Given the description of an element on the screen output the (x, y) to click on. 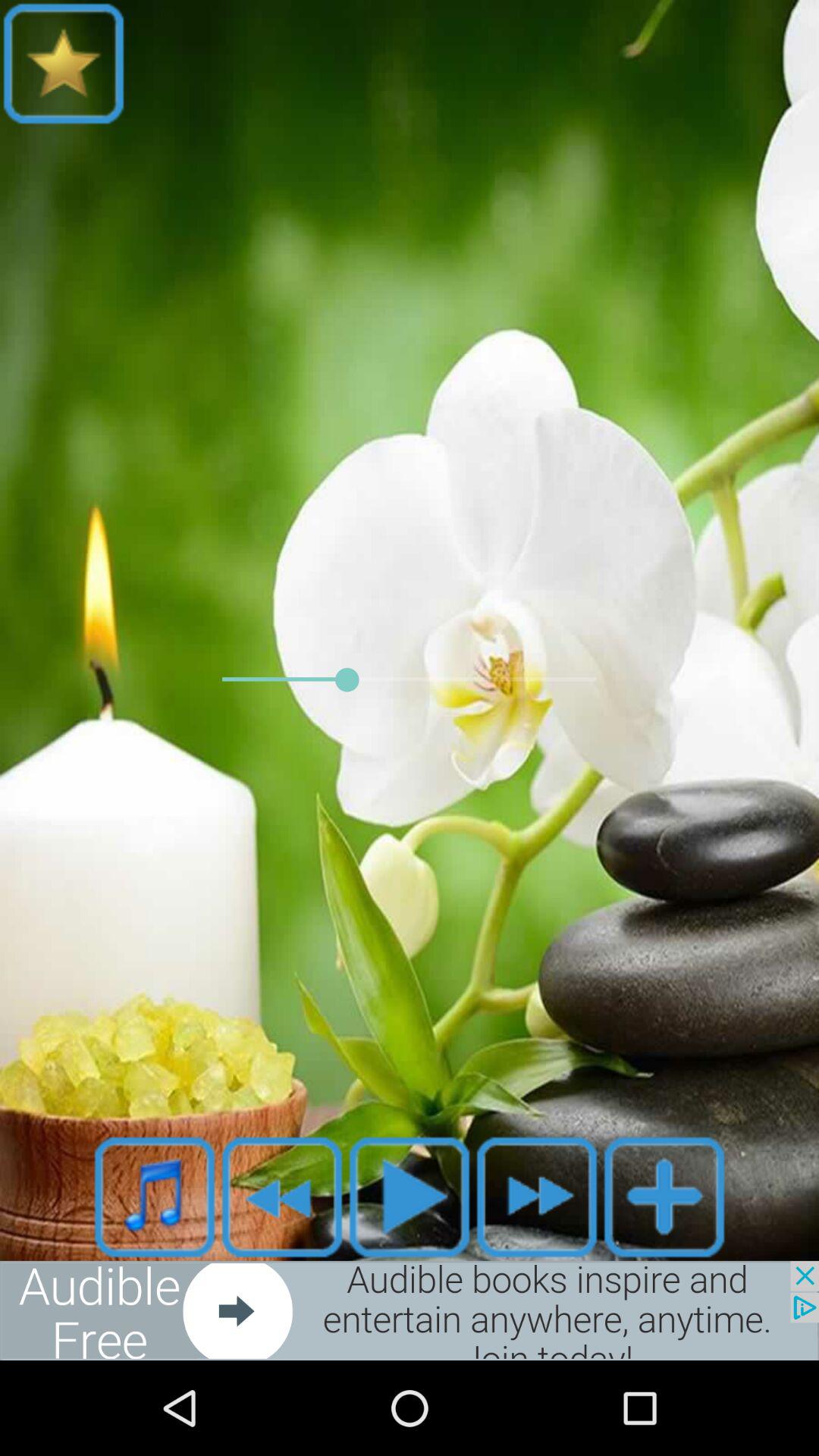
open advertisement (409, 1310)
